Given the description of an element on the screen output the (x, y) to click on. 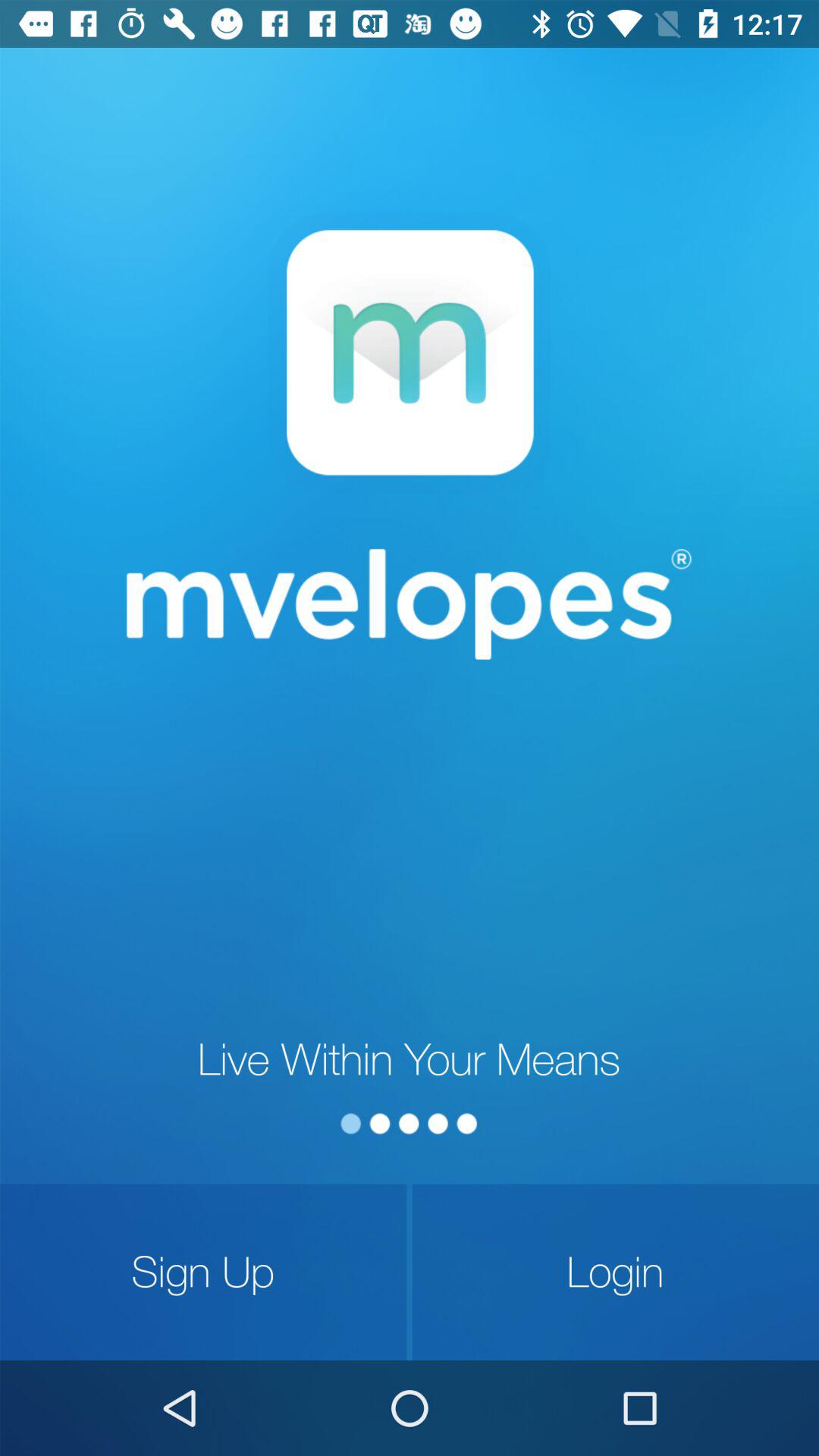
open the icon to the left of the login item (203, 1272)
